Given the description of an element on the screen output the (x, y) to click on. 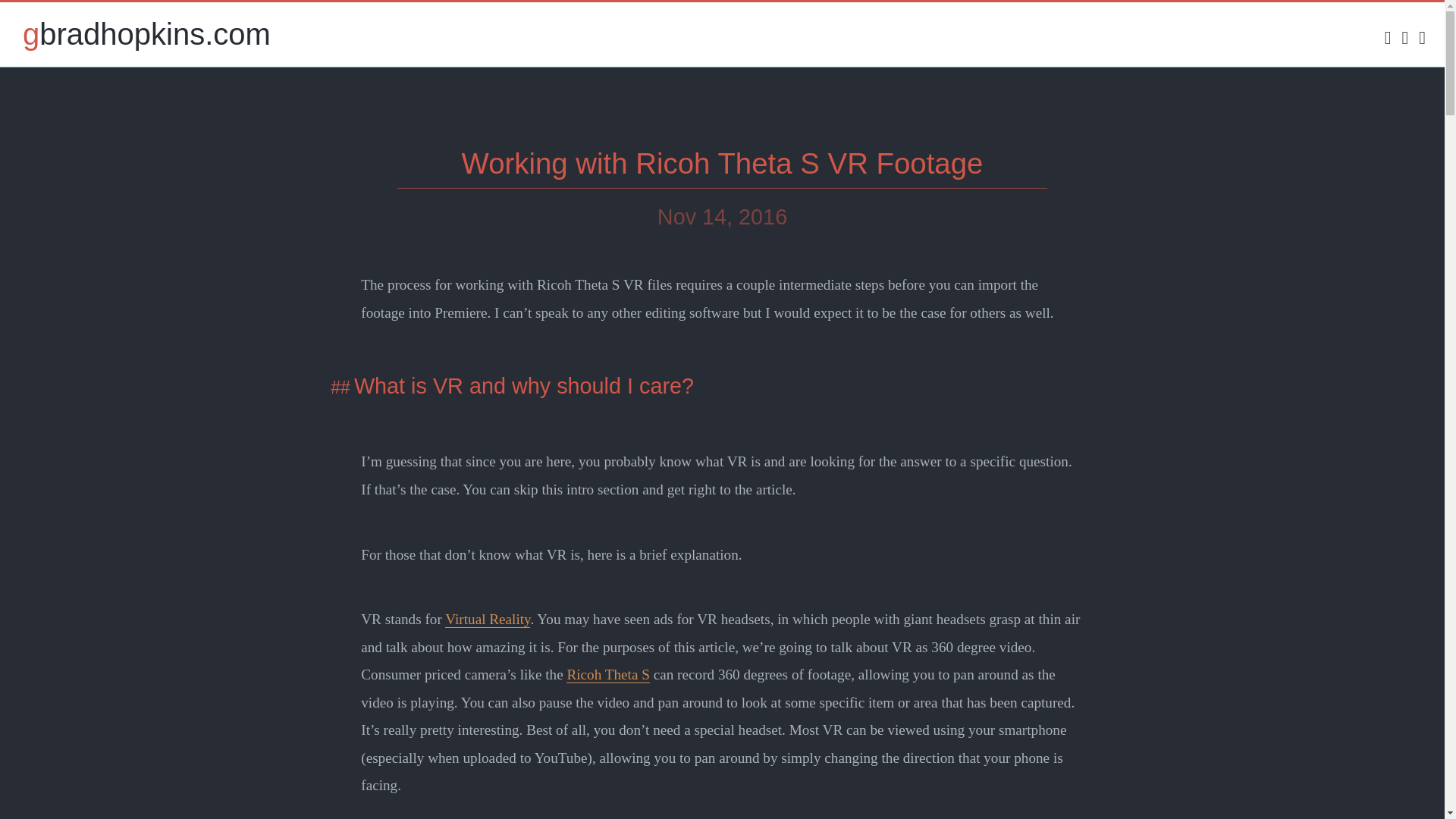
Ricoh Theta S (607, 674)
gbradhopkins.com (135, 34)
Virtual Reality (487, 619)
